Given the description of an element on the screen output the (x, y) to click on. 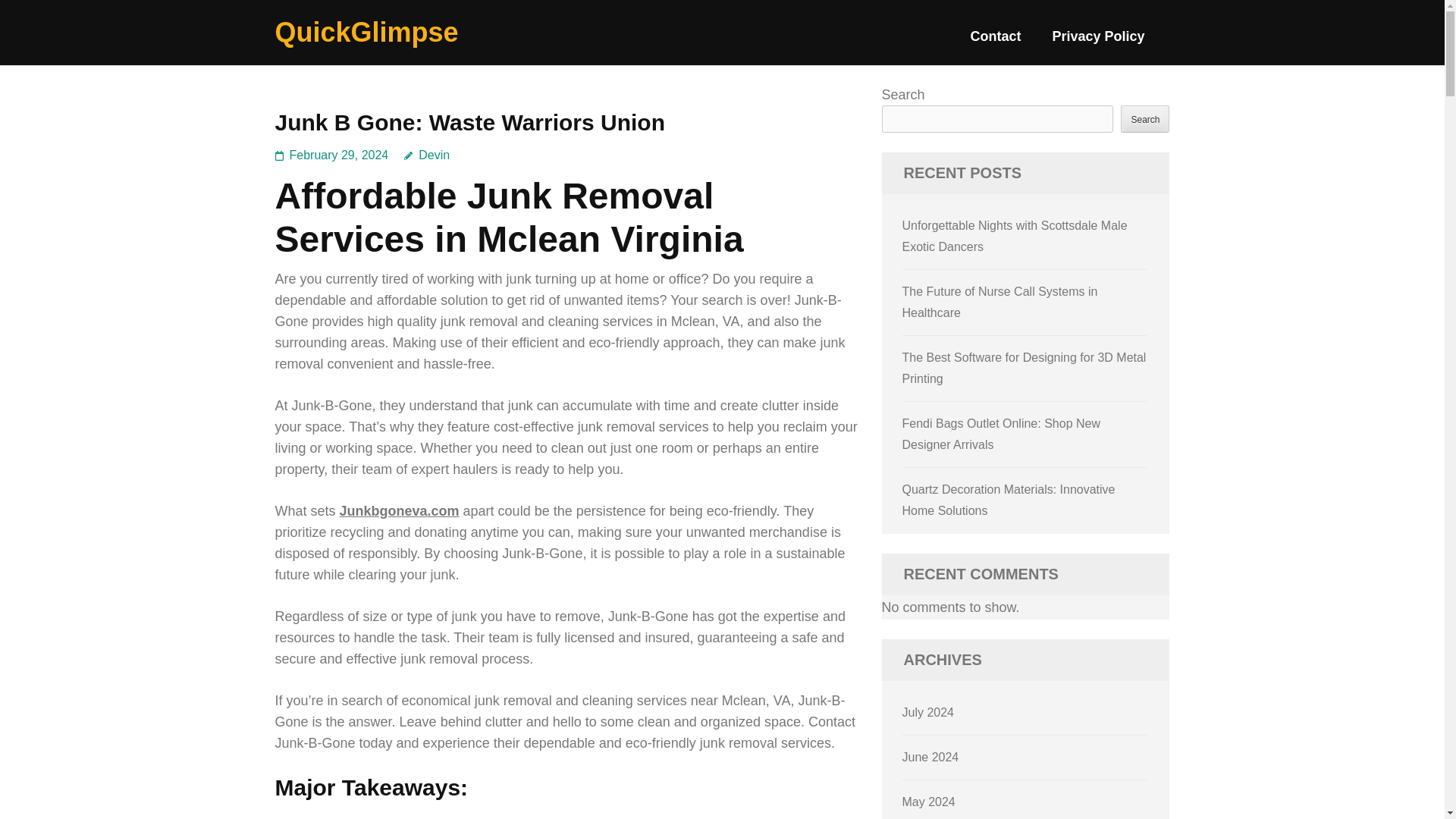
June 2024 (930, 757)
Devin (426, 154)
Privacy Policy (1097, 42)
The Future of Nurse Call Systems in Healthcare (999, 302)
February 29, 2024 (338, 154)
May 2024 (928, 801)
Search (1145, 118)
Junkbgoneva.com (399, 510)
Fendi Bags Outlet Online: Shop New Designer Arrivals (1001, 433)
Quartz Decoration Materials: Innovative Home Solutions (1008, 499)
QuickGlimpse (366, 31)
The Best Software for Designing for 3D Metal Printing (1024, 367)
Contact (994, 42)
Unforgettable Nights with Scottsdale Male Exotic Dancers (1014, 236)
July 2024 (928, 712)
